Given the description of an element on the screen output the (x, y) to click on. 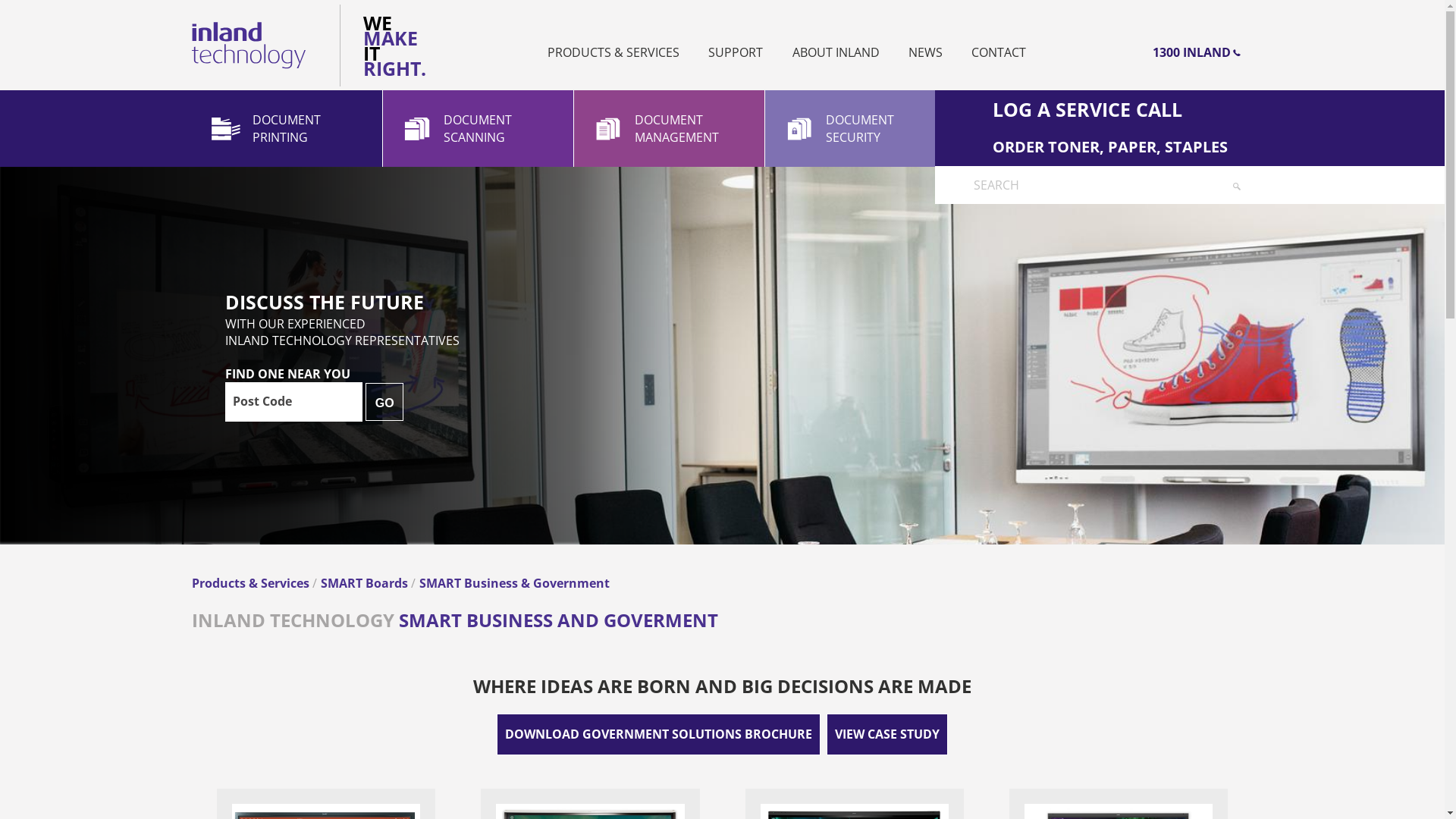
DOWNLOAD GOVERNMENT SOLUTIONS BROCHURE Element type: text (658, 733)
DOCUMENT PRINTING Element type: text (286, 128)
Products & Services Element type: text (251, 582)
PRODUCTS & SERVICES Element type: text (613, 51)
CONTACT Element type: text (998, 51)
WE MAKE IT RIGHT. Element type: text (386, 45)
SUPPORT Element type: text (735, 51)
VIEW CASE STUDY Element type: text (886, 733)
DOCUMENT SCANNING Element type: text (477, 128)
ABOUT INLAND Element type: text (835, 51)
DOCUMENT MANAGEMENT Element type: text (668, 128)
GO Element type: text (384, 401)
NEWS Element type: text (925, 51)
SMART Boards Element type: text (365, 582)
DOCUMENT SECURITY Element type: text (859, 128)
1300 INLAND Element type: text (1093, 51)
SMART Business & Government Element type: text (513, 582)
